Given the description of an element on the screen output the (x, y) to click on. 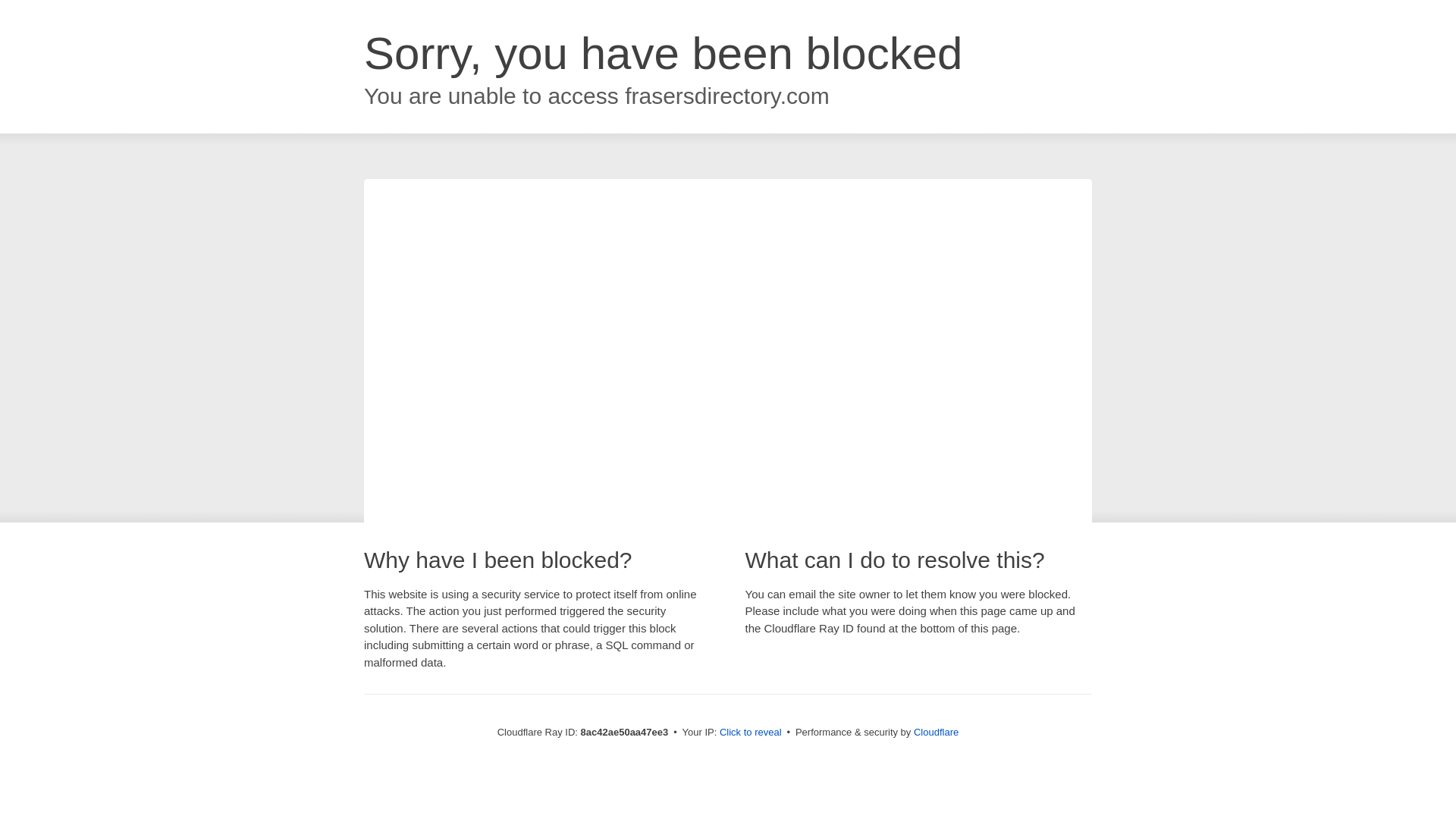
Cloudflare (936, 731)
Click to reveal (750, 732)
